Given the description of an element on the screen output the (x, y) to click on. 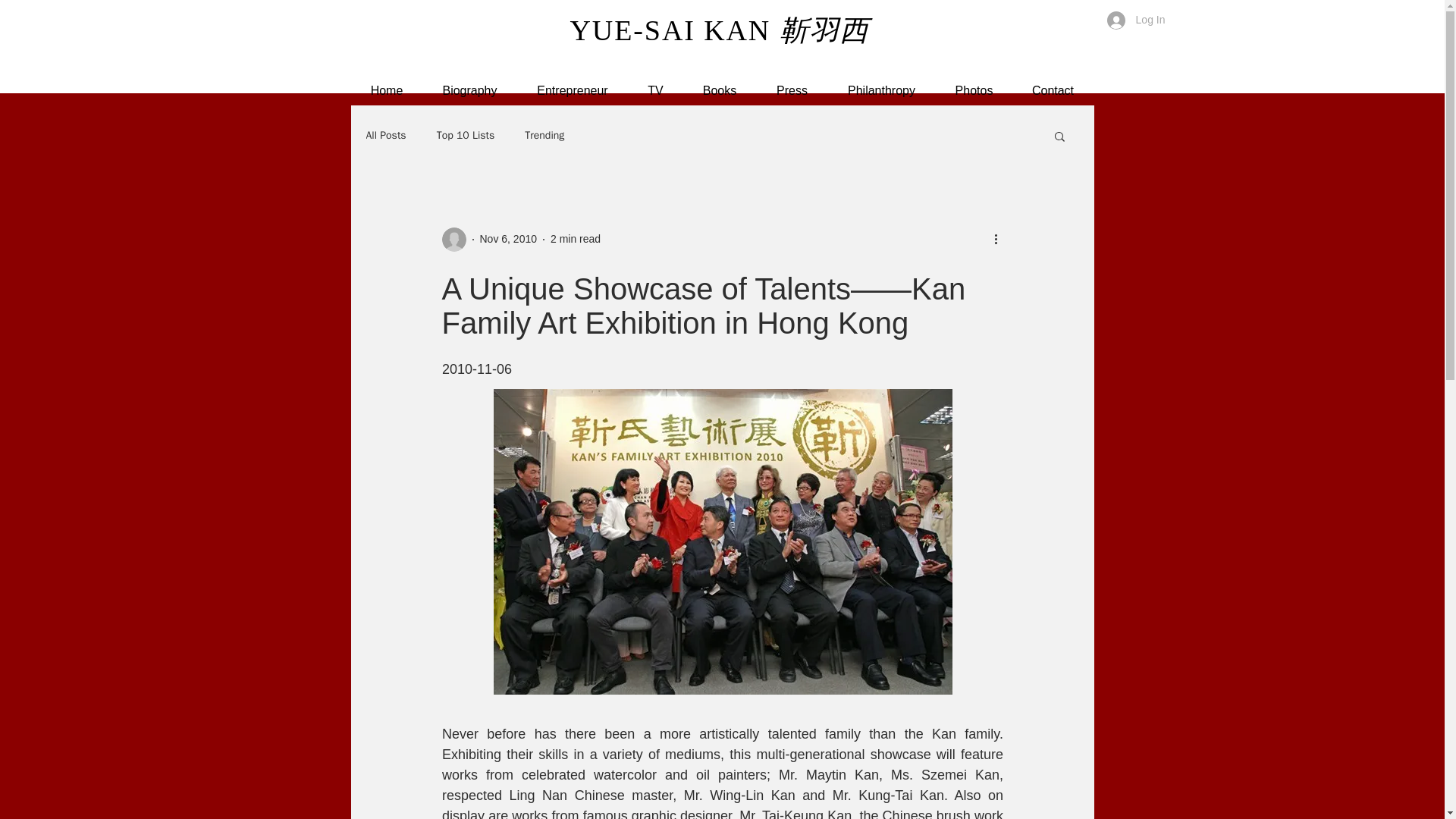
Home (386, 90)
Philanthropy (882, 90)
Log In (1136, 19)
Top 10 Lists (465, 135)
2 min read (574, 238)
Nov 6, 2010 (508, 238)
Biography (469, 90)
Photos (974, 90)
Press (792, 90)
Contact (1053, 90)
Trending (544, 135)
TV (654, 90)
Books (718, 90)
All Posts (385, 135)
